Given the description of an element on the screen output the (x, y) to click on. 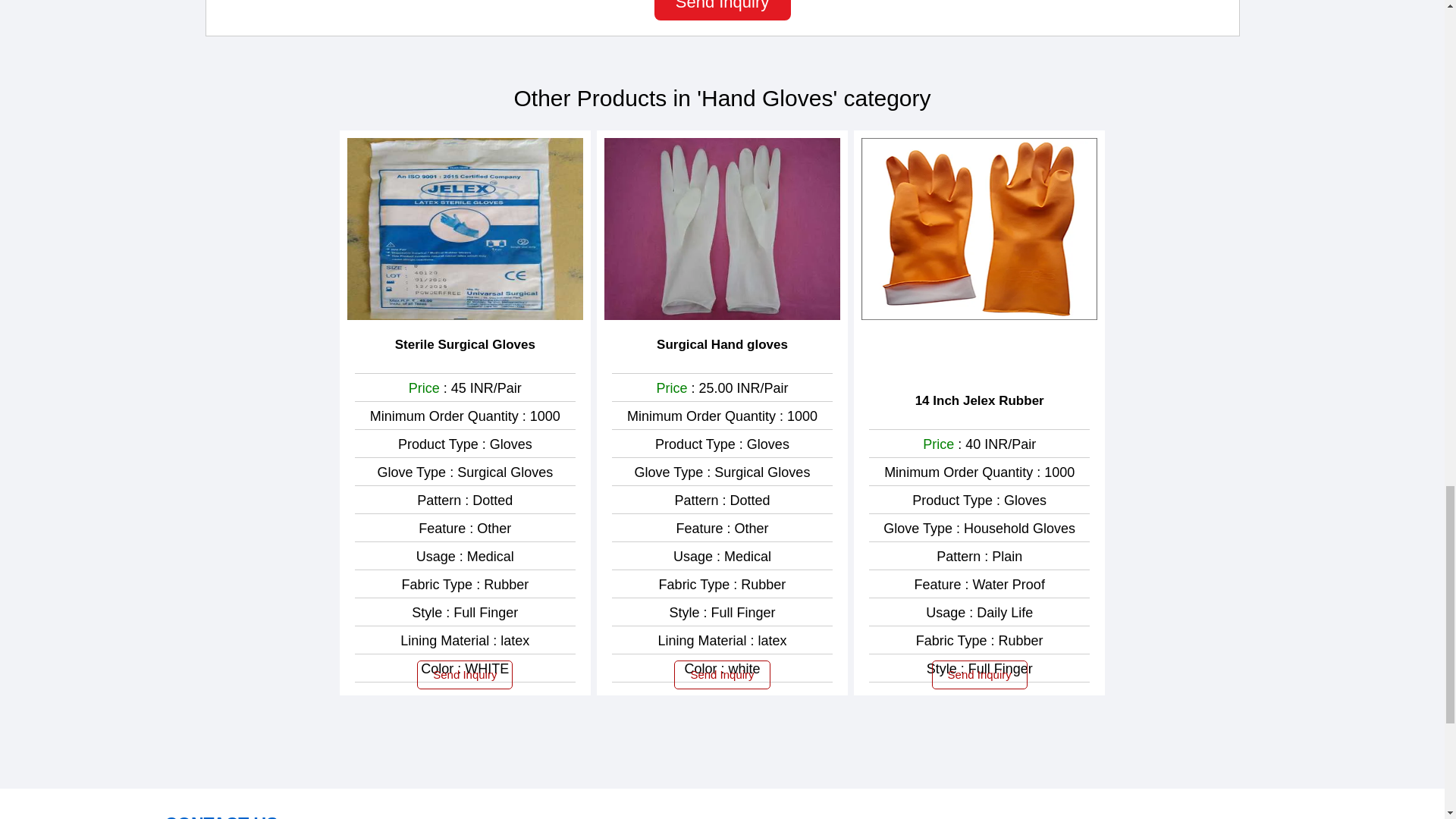
Send Inquiry (721, 10)
Send Inquiry (464, 674)
Send Inquiry (722, 674)
14 Inch Jelex Rubber (979, 401)
Surgical Hand gloves (721, 344)
Sterile Surgical Gloves (464, 344)
Send Inquiry (979, 674)
